Given the description of an element on the screen output the (x, y) to click on. 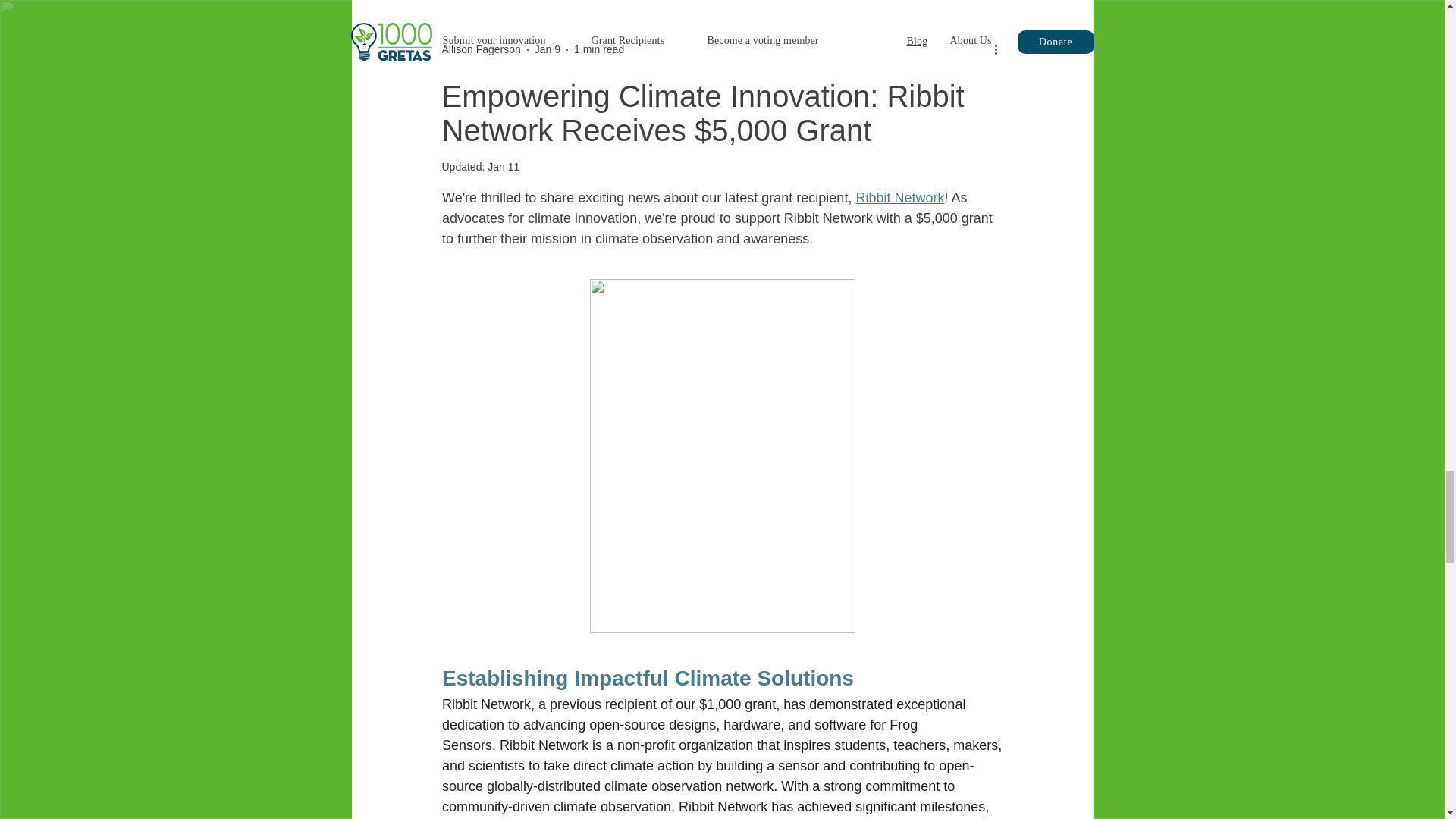
Jan 9 (547, 49)
Ribbit Network (899, 197)
Allison Fagerson (480, 49)
1 min read (598, 49)
Allison Fagerson (480, 49)
Jan 11 (503, 166)
